Given the description of an element on the screen output the (x, y) to click on. 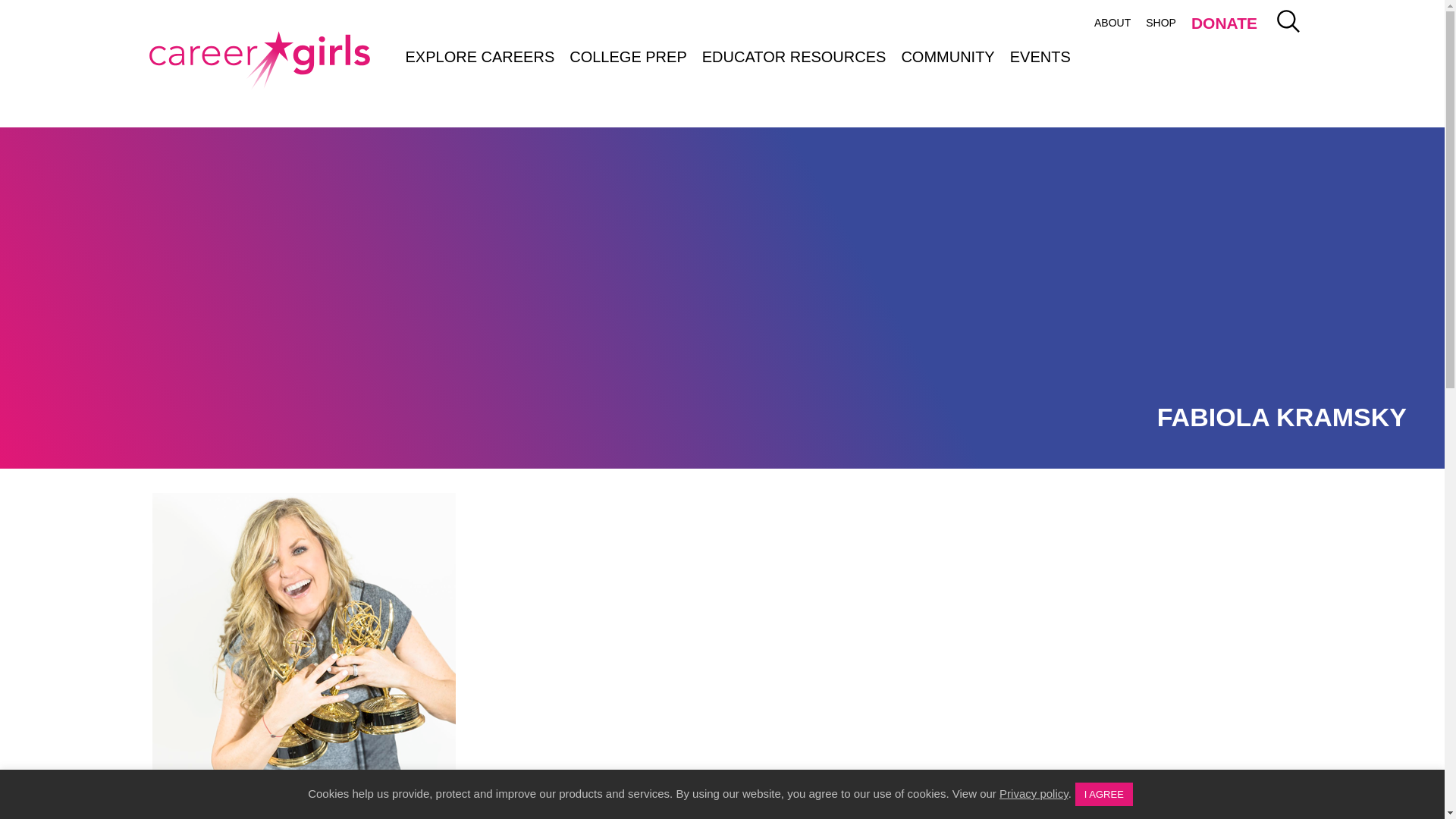
SHOP (1160, 22)
EVENTS (1040, 56)
EDUCATOR RESOURCES (793, 56)
DONATE (1224, 25)
COMMUNITY (947, 56)
ABOUT (1112, 22)
EXPLORE CAREERS (479, 56)
COLLEGE PREP (628, 56)
